Given the description of an element on the screen output the (x, y) to click on. 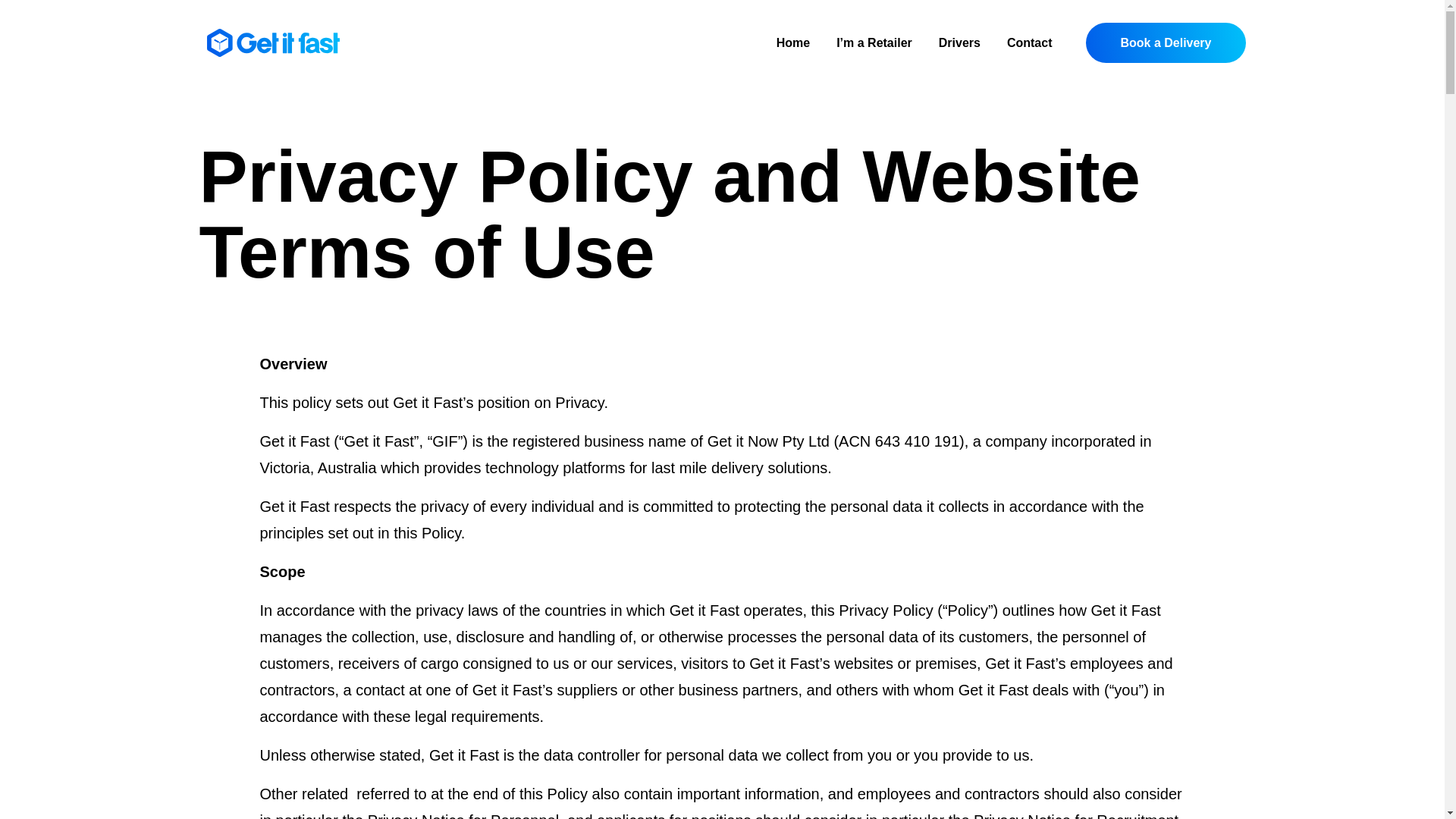
Home (792, 42)
Contact (1029, 42)
Book a Delivery (1165, 42)
Drivers (959, 42)
